Given the description of an element on the screen output the (x, y) to click on. 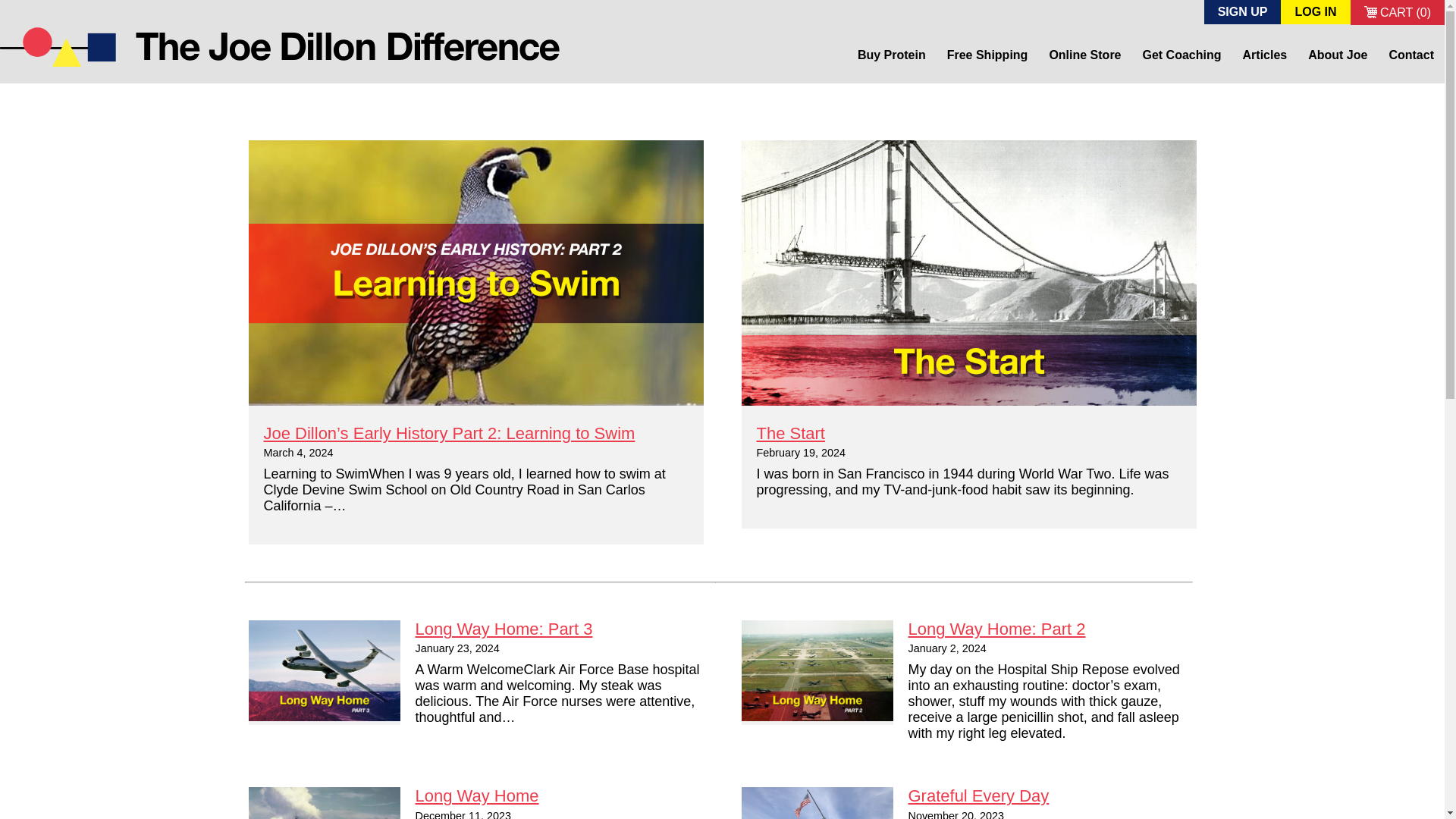
Online Store (1084, 54)
Buy Protein (891, 54)
The Start (791, 433)
Free Shipping (987, 54)
Long Way Home (476, 795)
LOG IN (1315, 12)
About Joe (1337, 54)
The Start (968, 272)
Long Way Home: Part 3 (324, 670)
Long Way Home: Part 3 (503, 628)
